Given the description of an element on the screen output the (x, y) to click on. 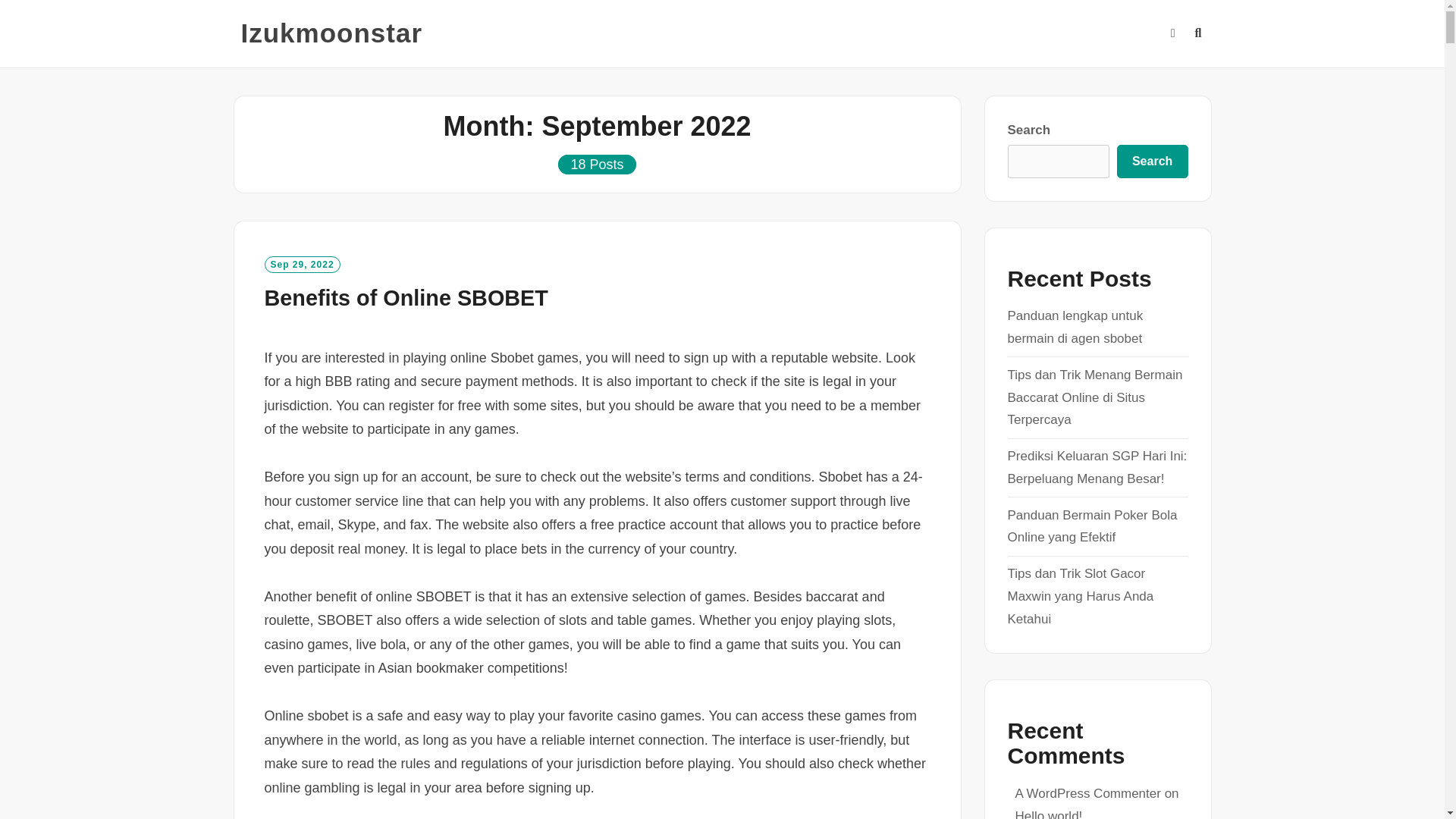
Sep 29, 2022 (301, 264)
Benefits of Online SBOBET (405, 297)
Izukmoonstar (332, 33)
